Given the description of an element on the screen output the (x, y) to click on. 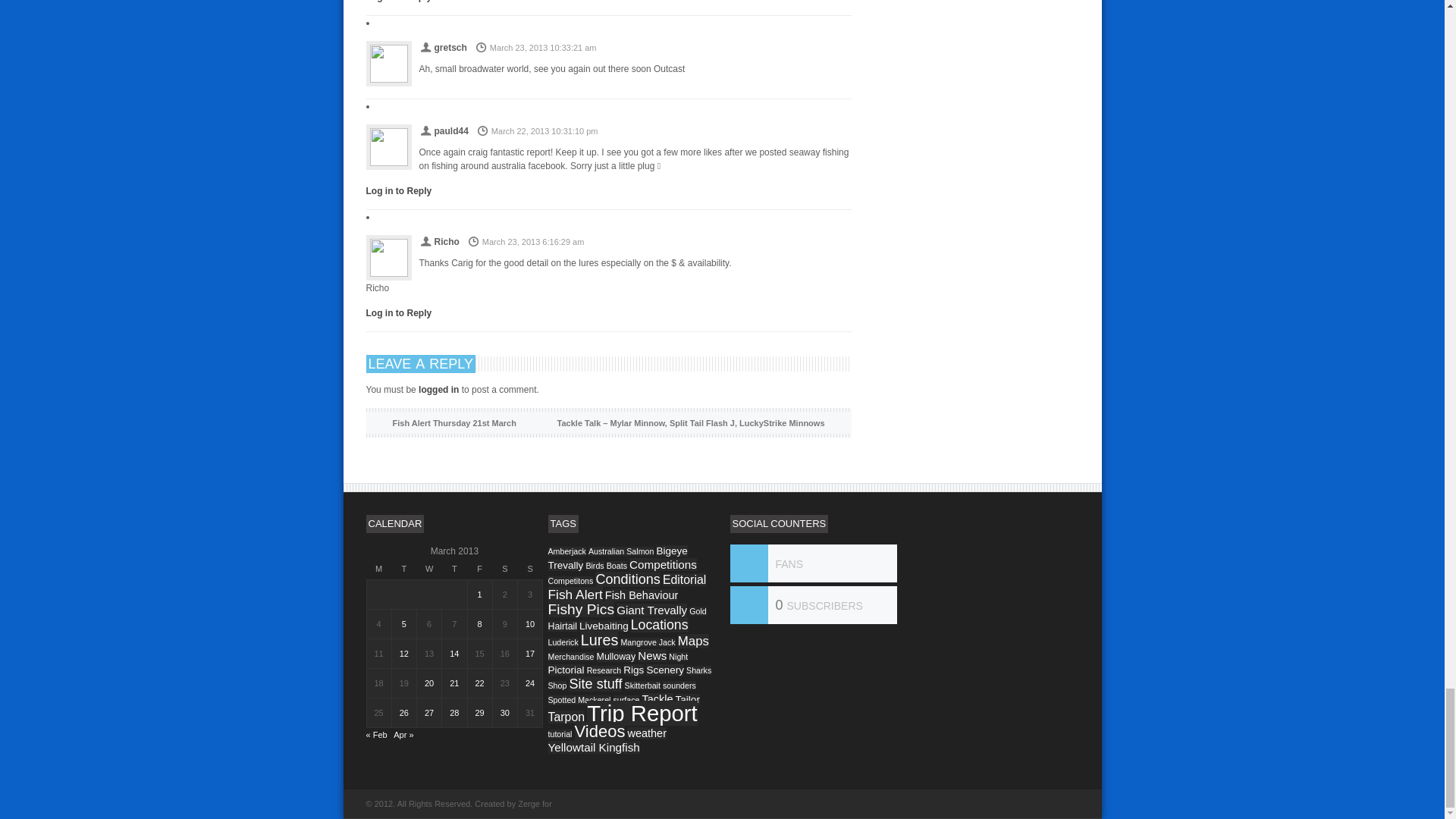
Saturday (504, 568)
Tuesday (403, 568)
Monday (378, 568)
Sunday (528, 568)
Thursday (454, 568)
Wednesday (429, 568)
Friday (479, 568)
